Given the description of an element on the screen output the (x, y) to click on. 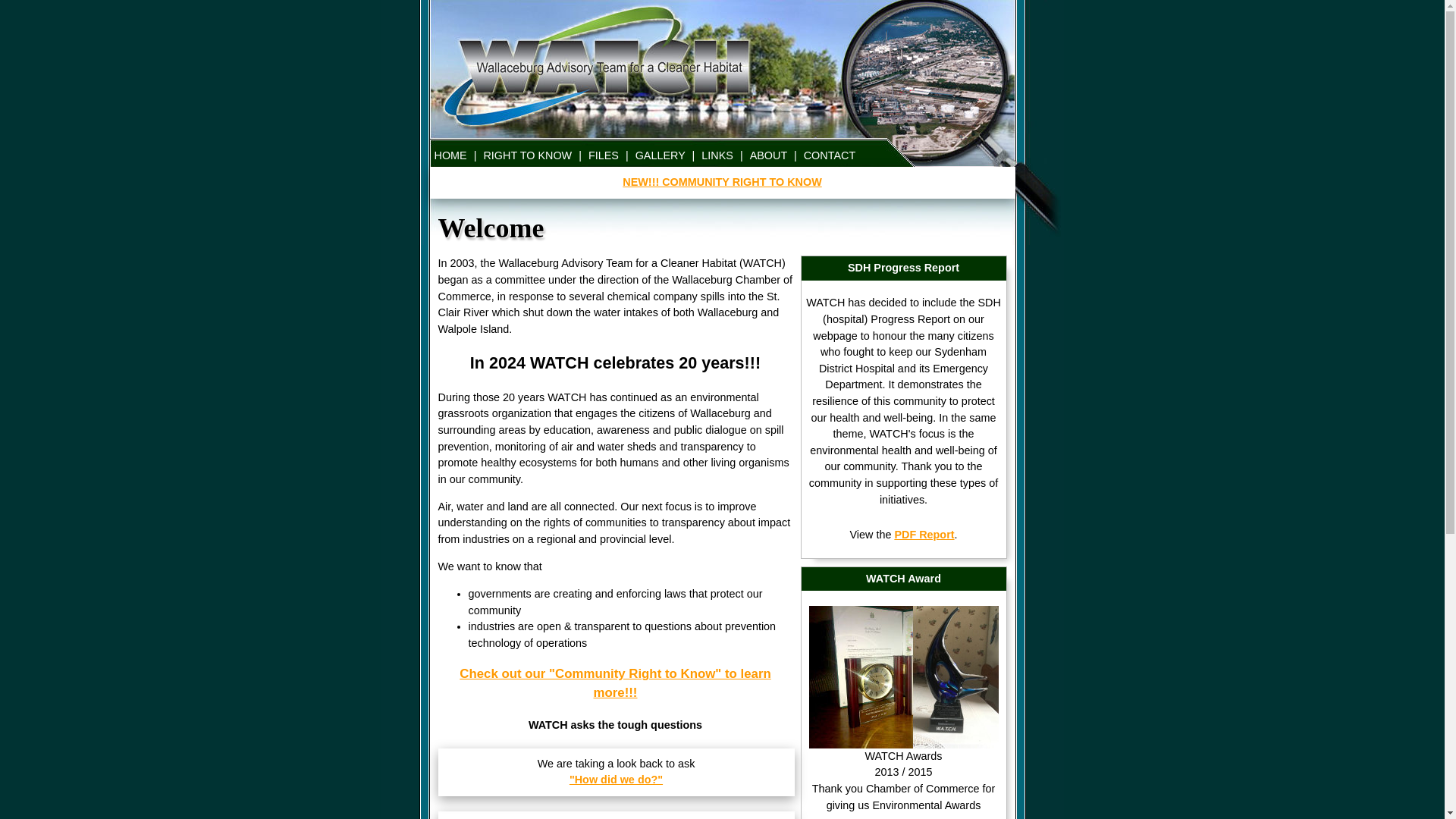
NEW!!! COMMUNITY RIGHT TO KNOW Element type: text (721, 181)
PDF Report Element type: text (923, 534)
CONTACT Element type: text (829, 155)
ABOUT Element type: text (768, 155)
Check out our "Community Right to Know" to learn more!!! Element type: text (614, 682)
FILES Element type: text (603, 155)
GALLERY Element type: text (660, 155)
LINKS Element type: text (717, 155)
HOME Element type: text (449, 155)
"How did we do?" Element type: text (615, 779)
RIGHT TO KNOW Element type: text (527, 155)
